Given the description of an element on the screen output the (x, y) to click on. 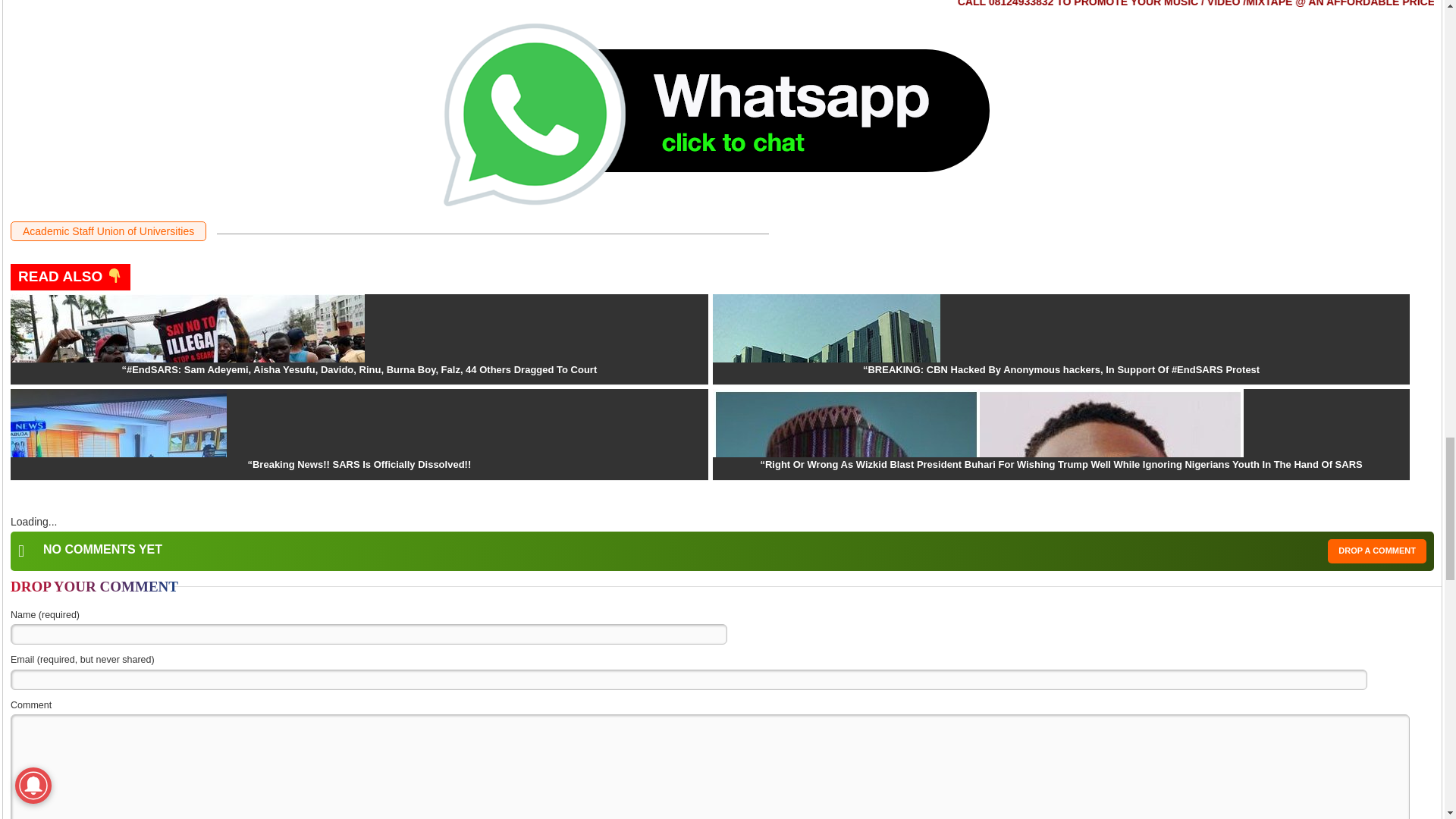
DROP A COMMENT (1376, 550)
Academic Staff Union of Universities (108, 230)
